Given the description of an element on the screen output the (x, y) to click on. 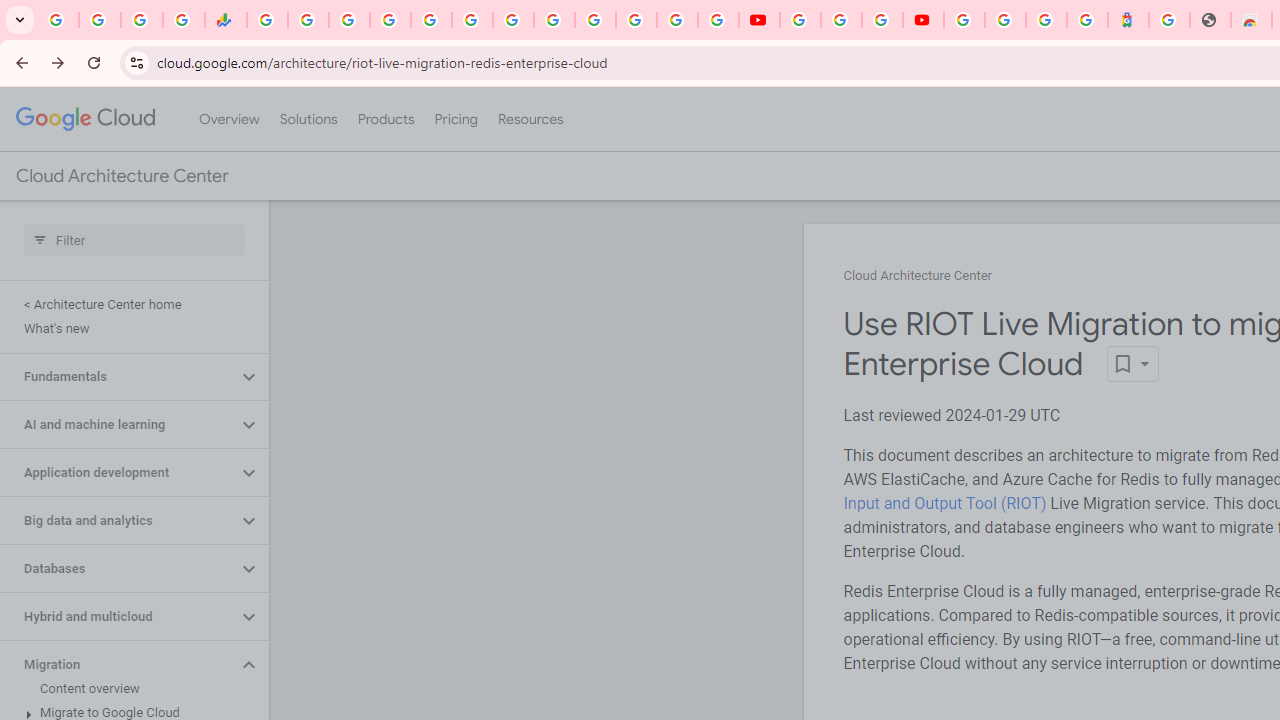
Content overview (130, 688)
Sign in - Google Accounts (1005, 20)
Fundamentals (118, 376)
YouTube (799, 20)
Solutions (308, 119)
Big data and analytics (118, 520)
Google Account Help (840, 20)
